Given the description of an element on the screen output the (x, y) to click on. 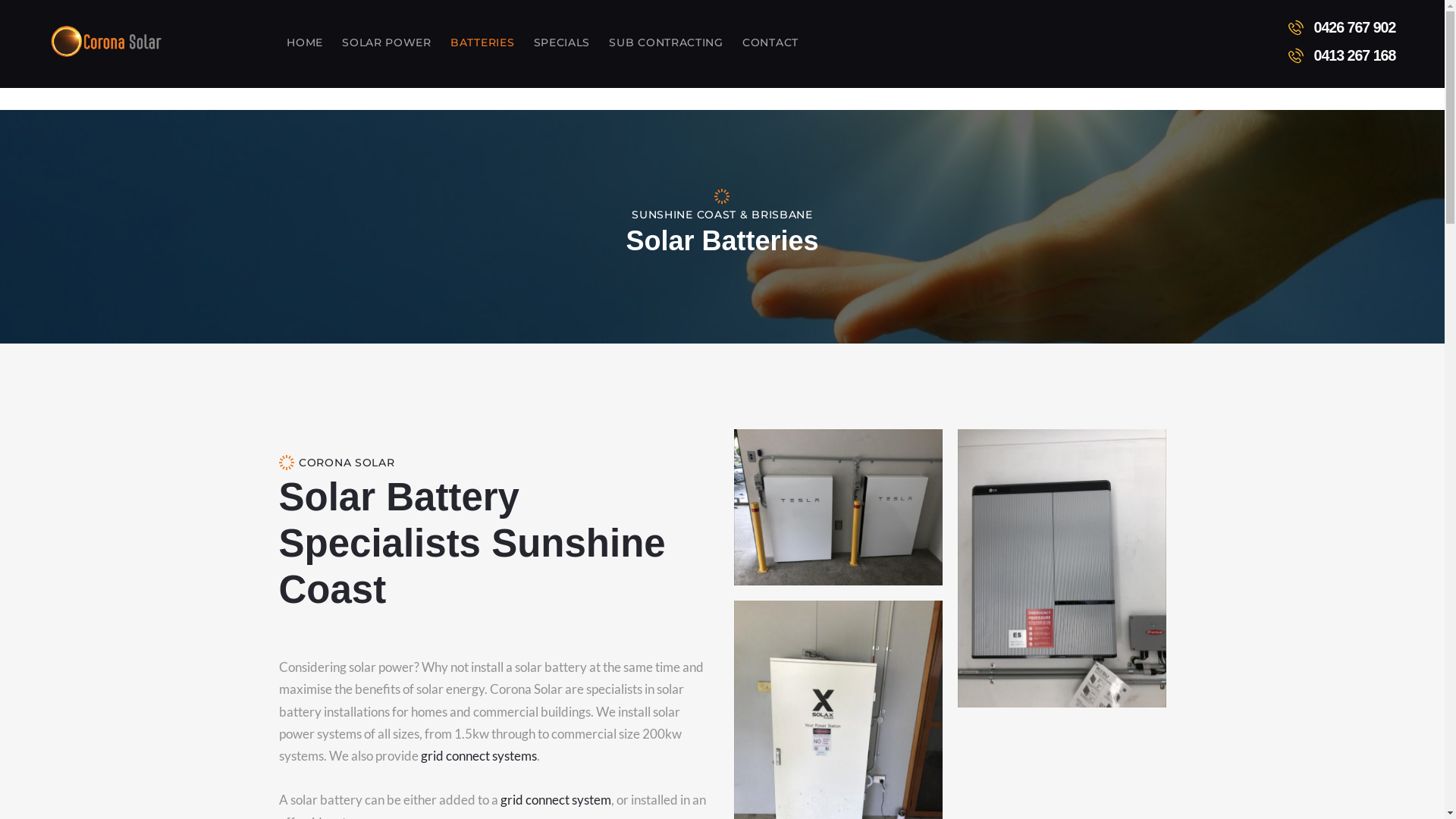
BATTERIES Element type: text (482, 41)
0413 267 168 Element type: text (1336, 55)
CONTACT Element type: text (769, 41)
SOLAR POWER Element type: text (386, 41)
grid connect system Element type: text (555, 799)
grid connect systems Element type: text (478, 755)
0426 767 902 Element type: text (1336, 27)
SUB CONTRACTING Element type: text (666, 41)
SPECIALS Element type: text (561, 41)
HOME Element type: text (304, 41)
